Given the description of an element on the screen output the (x, y) to click on. 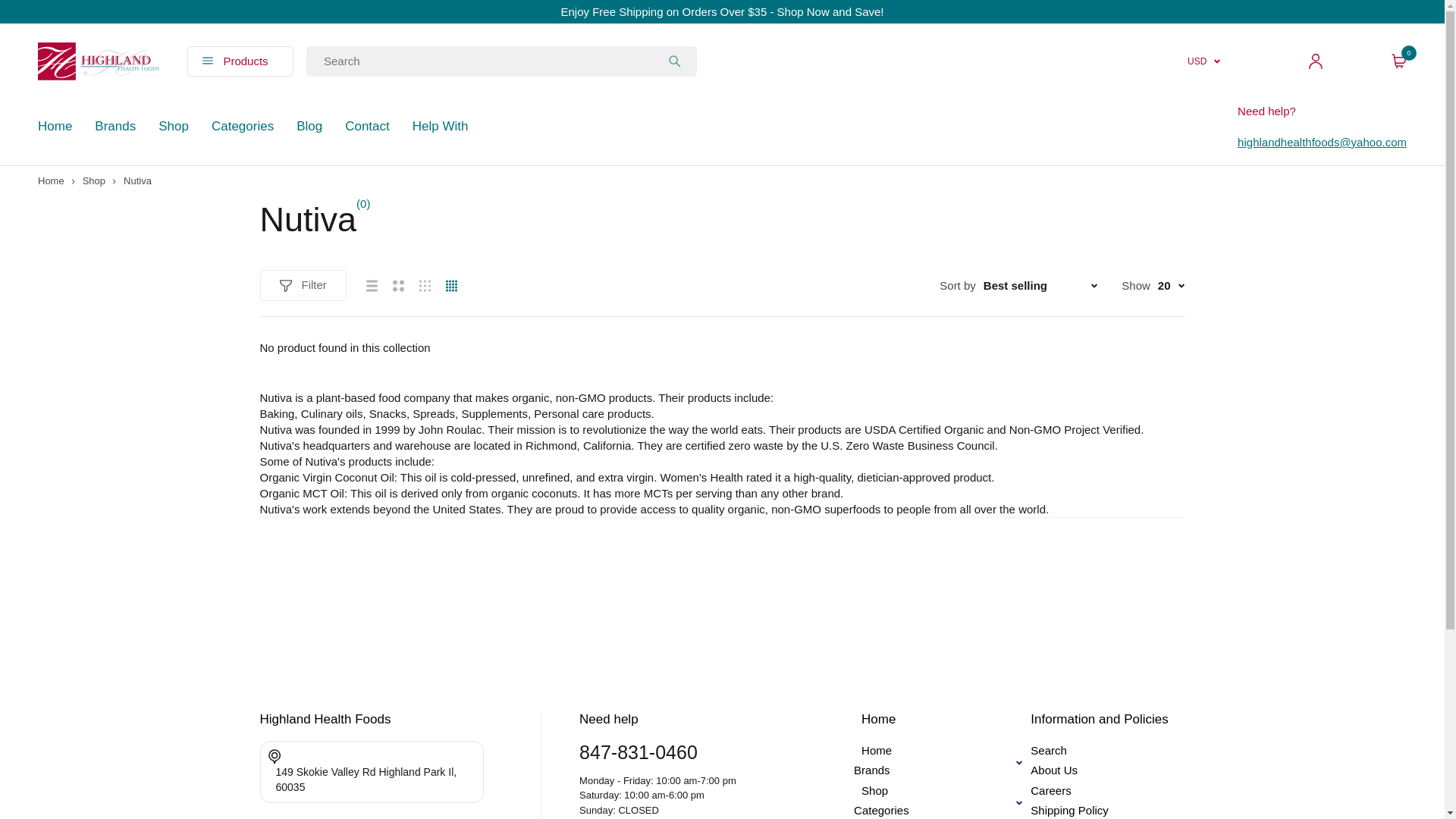
Products (250, 60)
Contact (367, 125)
Your Cart (1398, 61)
Filter (302, 285)
Home (54, 125)
Categories (242, 125)
Home (50, 180)
Search (674, 60)
Help With (440, 125)
Blog (309, 125)
Blog (309, 125)
Shop (93, 180)
Shop (173, 125)
Nutiva (137, 180)
Categories (242, 125)
